Given the description of an element on the screen output the (x, y) to click on. 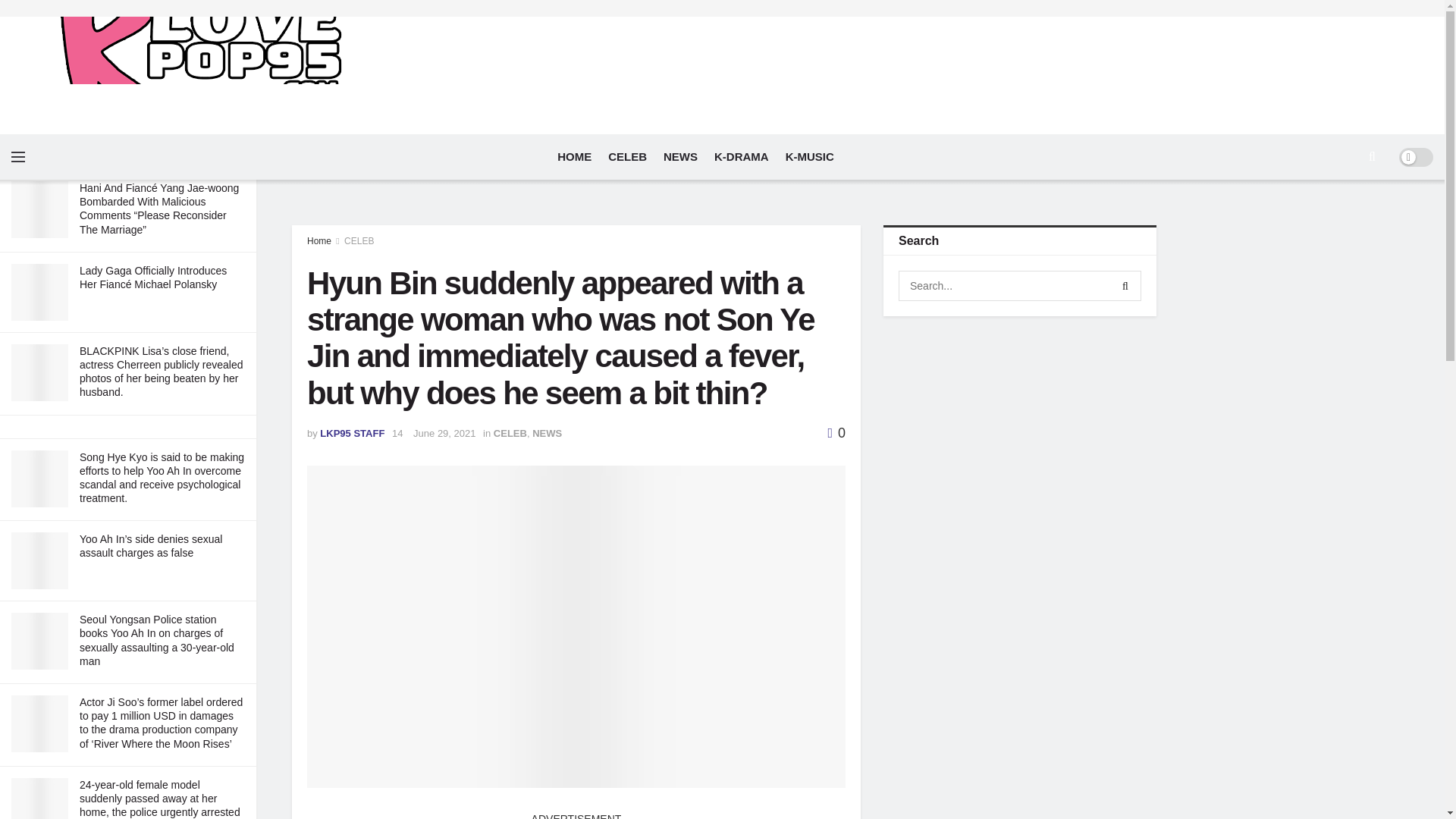
K-DRAMA (741, 156)
Filter (227, 13)
K-MUSIC (810, 156)
